Given the description of an element on the screen output the (x, y) to click on. 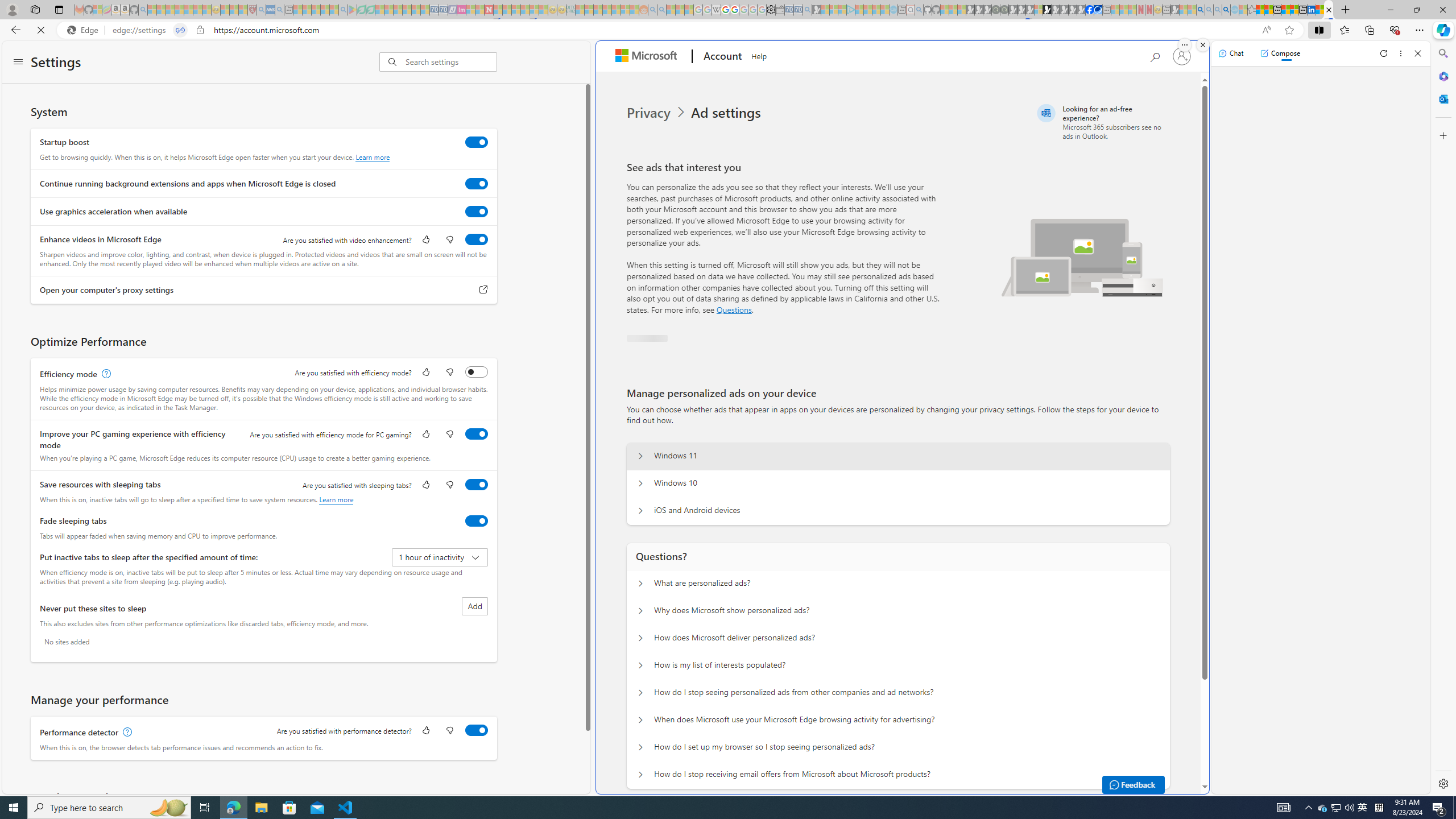
Wallet - Sleeping (779, 9)
Future Focus Report 2024 - Sleeping (1004, 9)
Manage personalized ads on your device Windows 10 (640, 483)
Performance detector, learn more (126, 732)
